Given the description of an element on the screen output the (x, y) to click on. 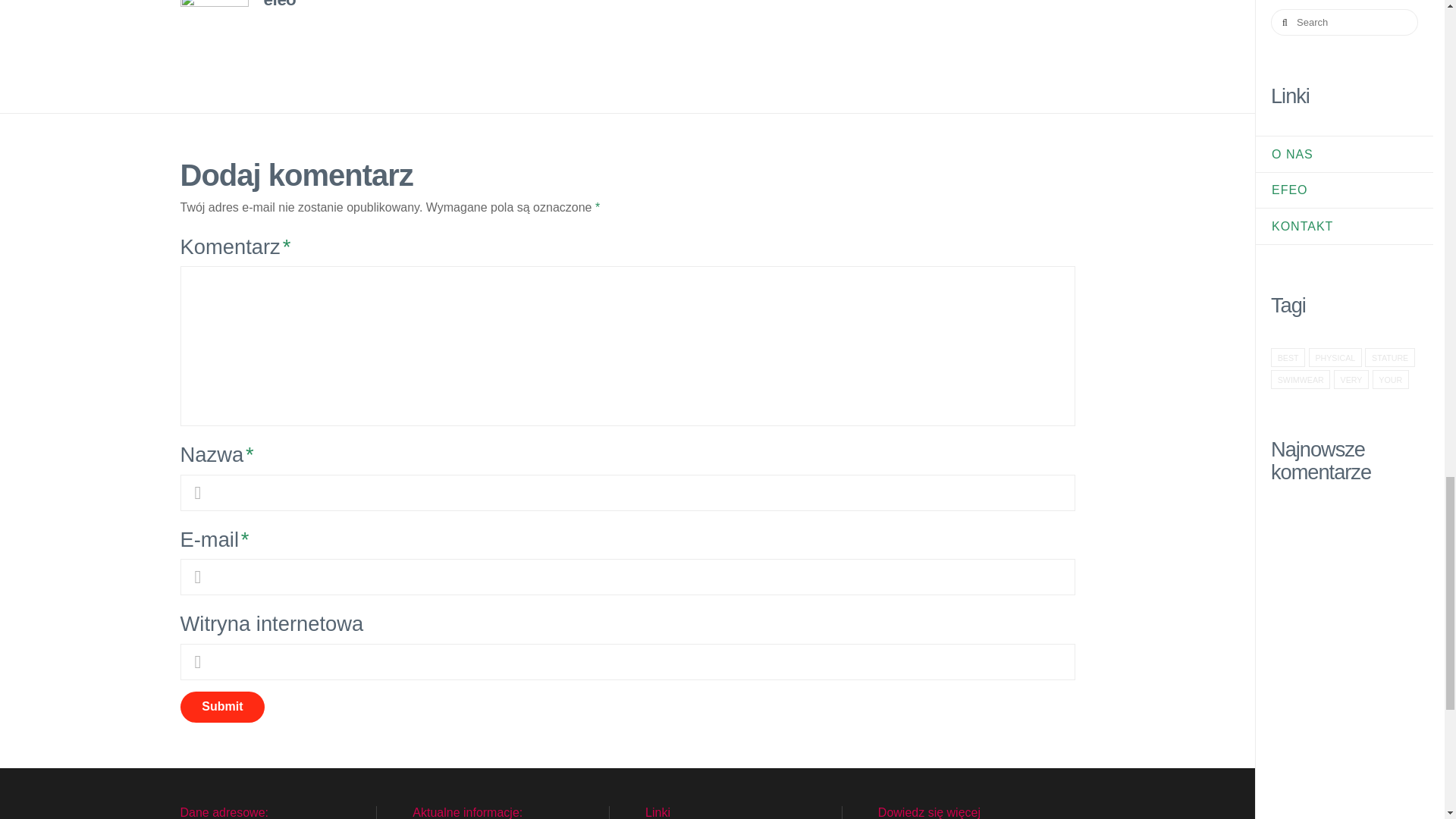
Submit (222, 707)
Submit (222, 707)
